Given the description of an element on the screen output the (x, y) to click on. 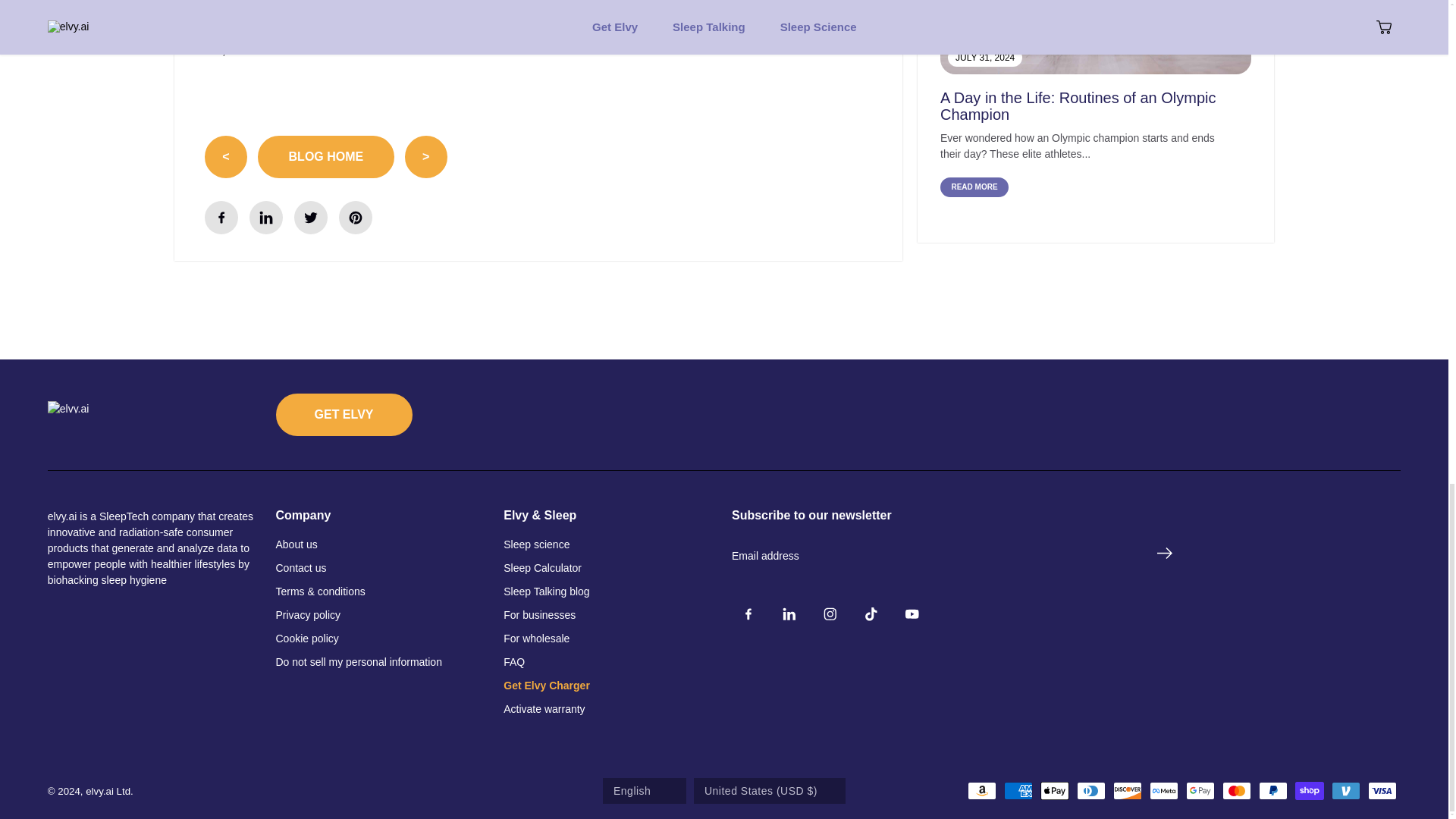
READ MORE (974, 187)
Twitter (310, 217)
Contact us (301, 568)
Sleep Talking blog (546, 591)
Privacy policy (308, 615)
JULY 31, 2024 (1095, 37)
Pinterest (355, 217)
About us (296, 544)
Discover (1127, 791)
Facebook (221, 217)
Sleep science (536, 544)
Amazon (981, 791)
American Express (1018, 791)
GET ELVY (344, 414)
Google Pay (1200, 791)
